Given the description of an element on the screen output the (x, y) to click on. 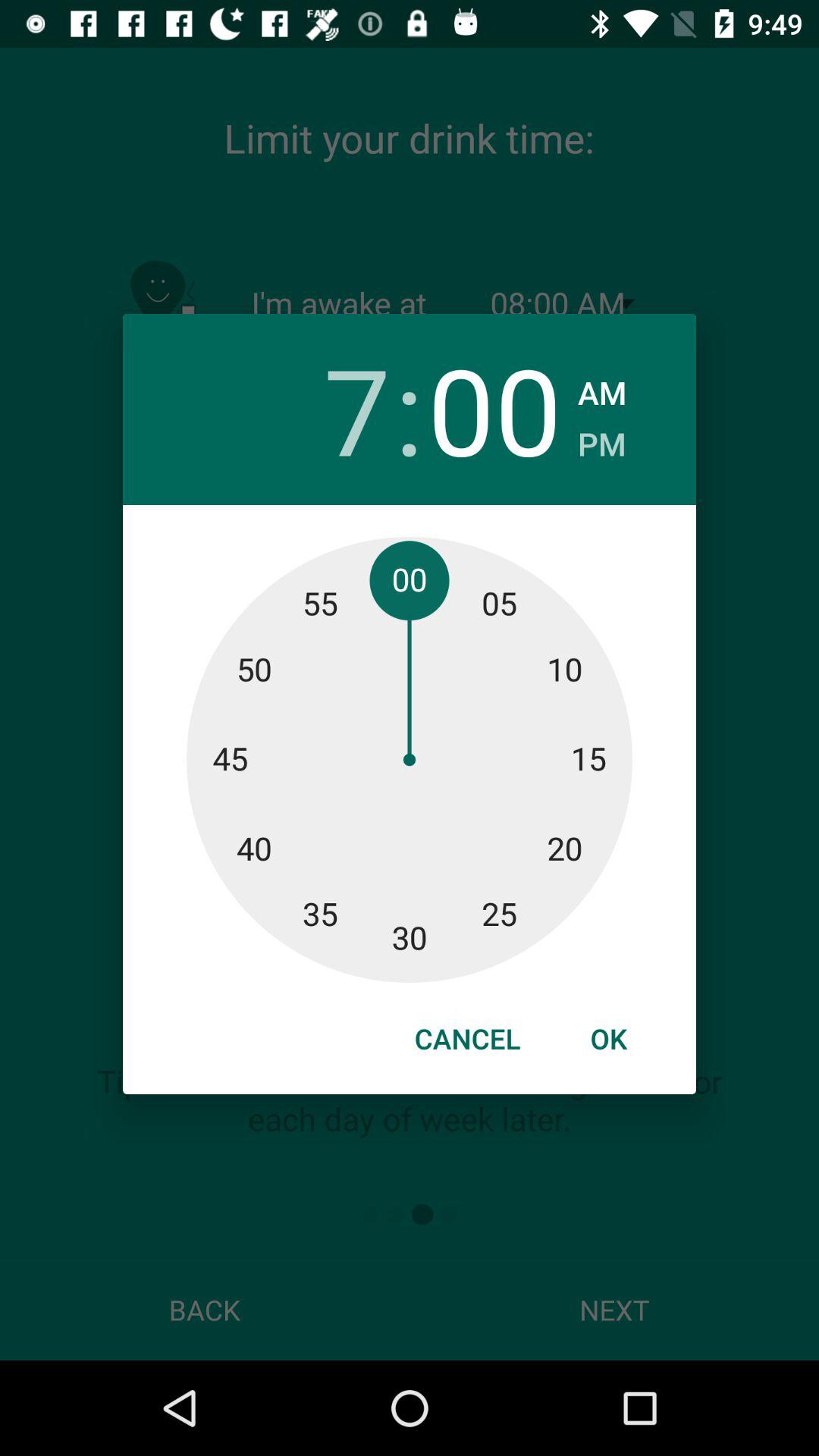
turn off the am (601, 388)
